Given the description of an element on the screen output the (x, y) to click on. 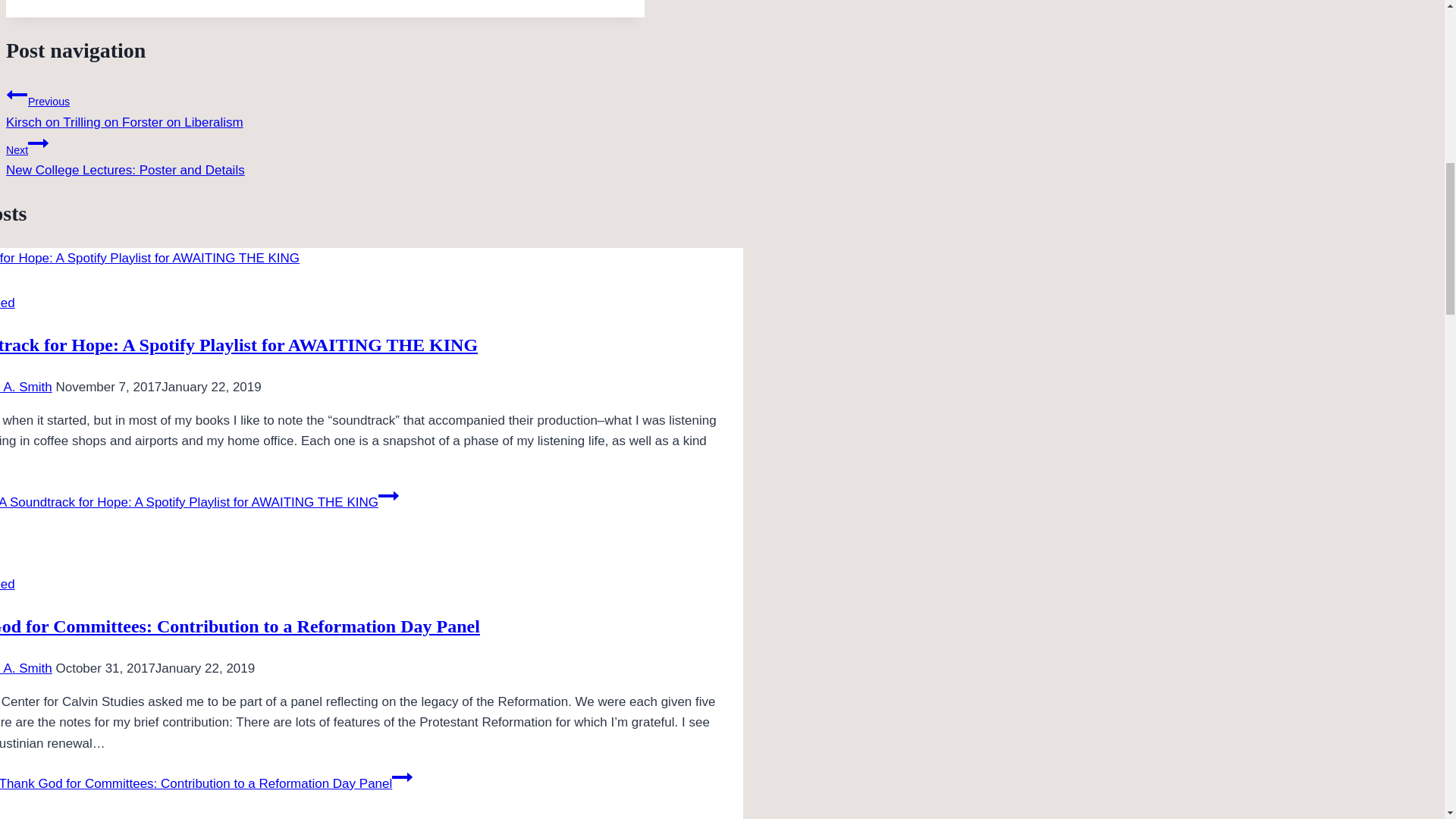
Continue (37, 142)
Previous (16, 94)
James K. A. Smith (26, 386)
Uncategorized (325, 154)
Continue (7, 302)
James K. A. Smith (388, 495)
